Given the description of an element on the screen output the (x, y) to click on. 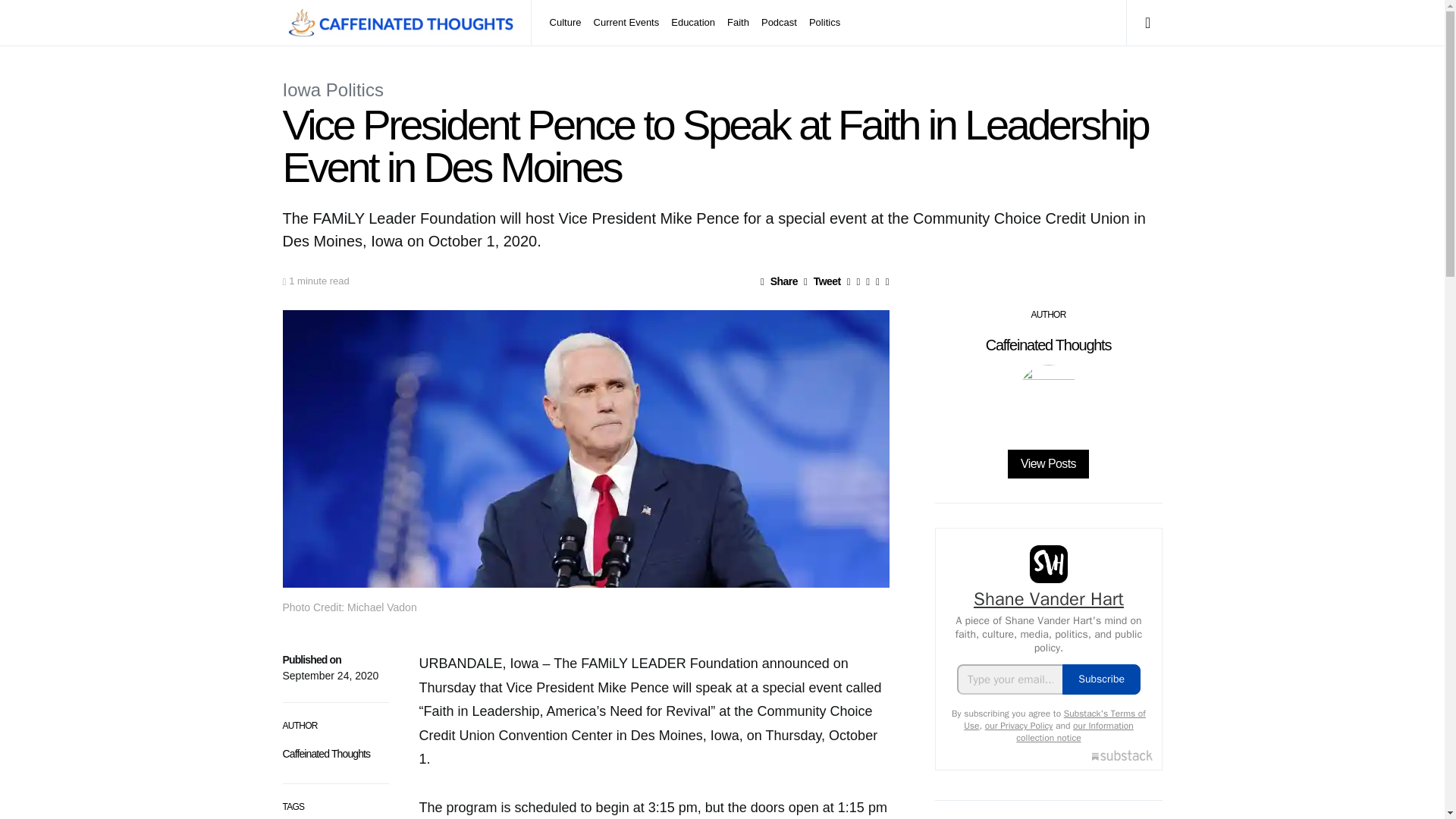
Tweet (822, 280)
Education (692, 22)
Podcast (779, 22)
Caffeinated Thoughts (325, 753)
Iowa Politics (332, 89)
Current Events (626, 22)
Share (778, 280)
